Given the description of an element on the screen output the (x, y) to click on. 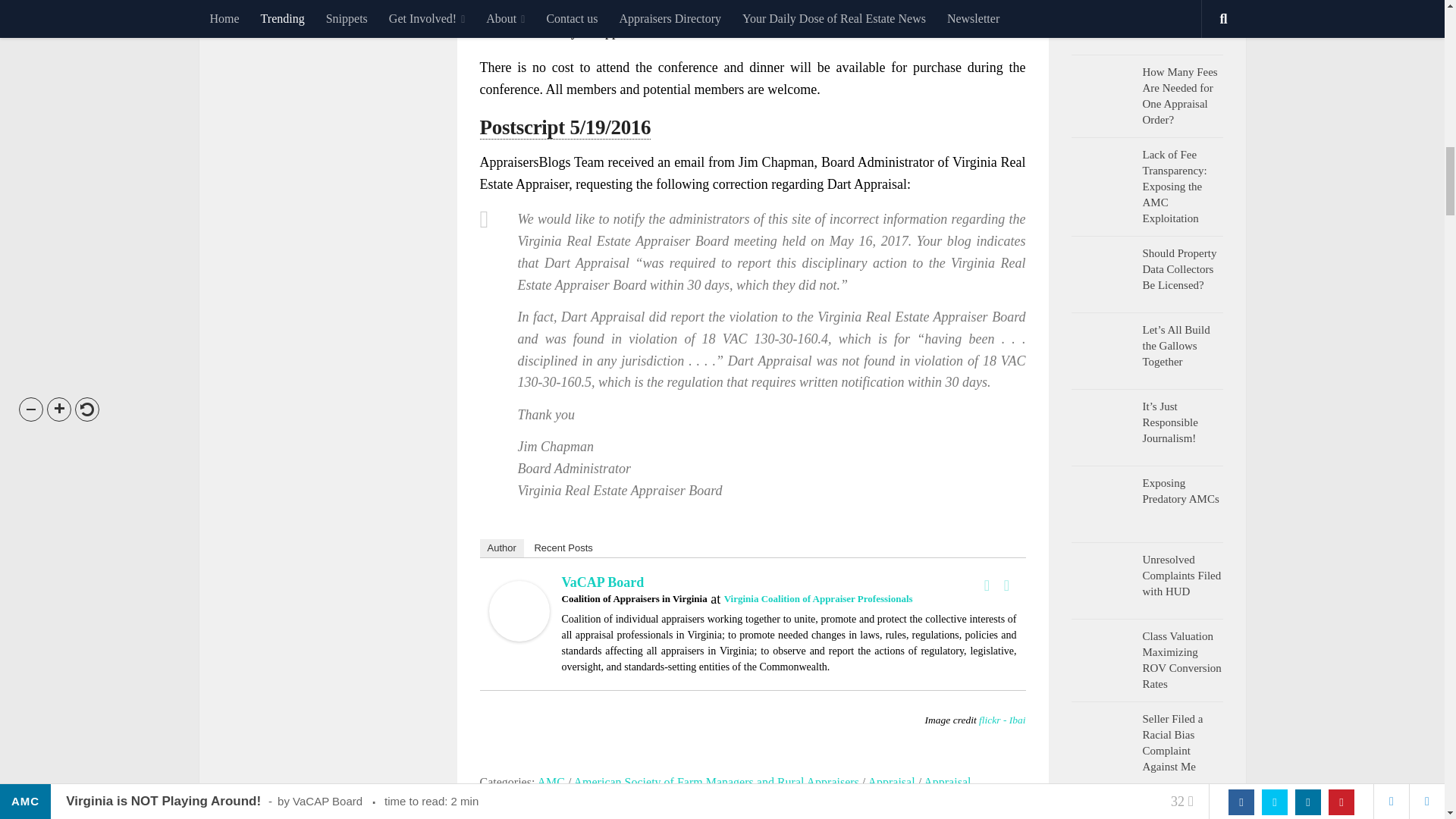
VaCAP Board (601, 581)
Recent Posts (562, 547)
Author (500, 547)
